Given the description of an element on the screen output the (x, y) to click on. 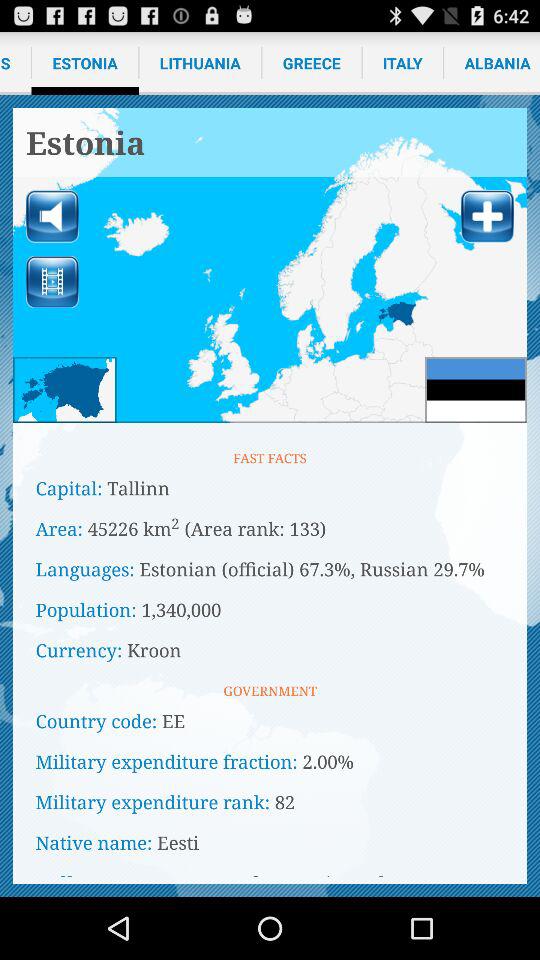
map (269, 265)
